Given the description of an element on the screen output the (x, y) to click on. 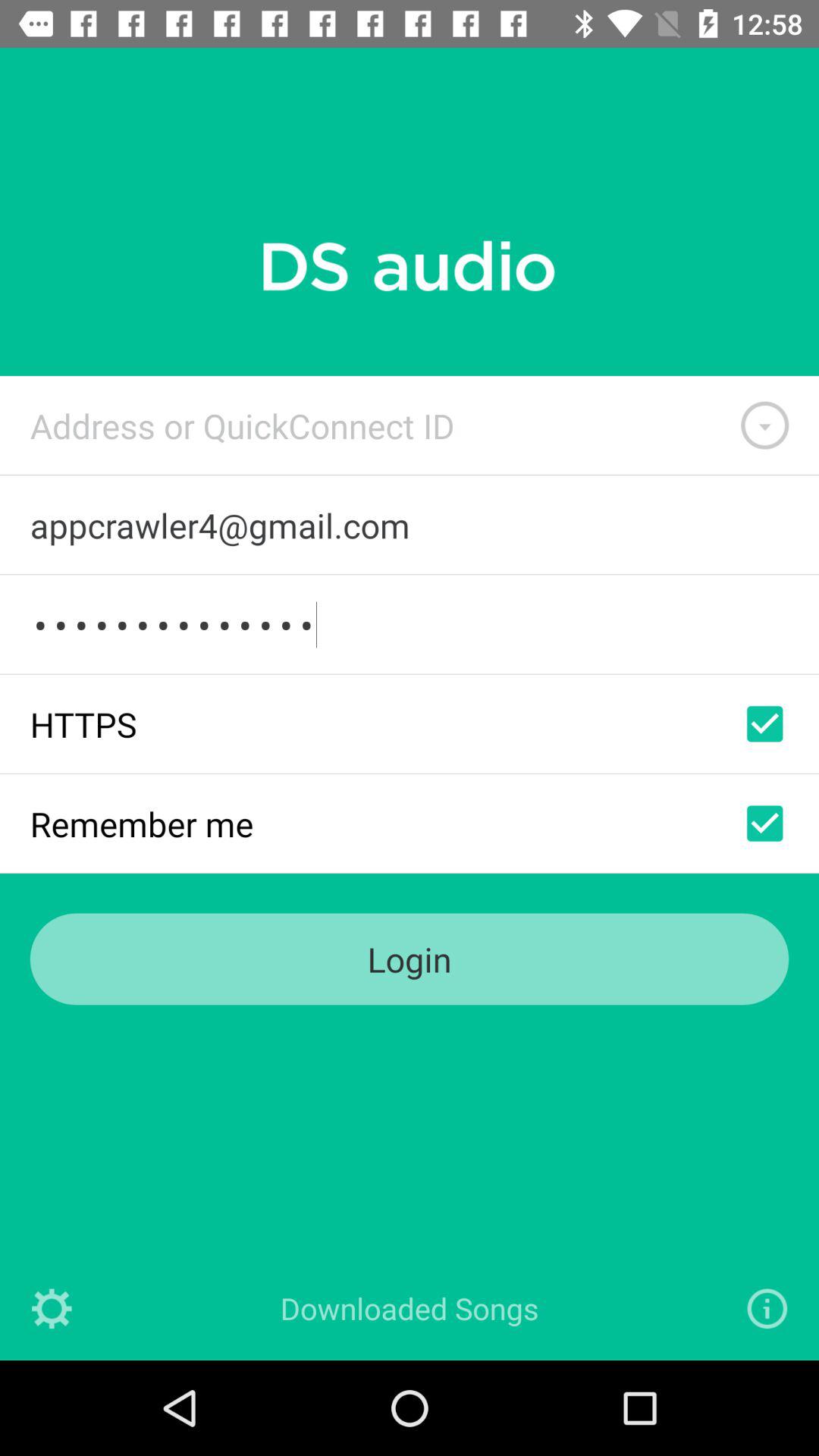
settings (51, 1308)
